Given the description of an element on the screen output the (x, y) to click on. 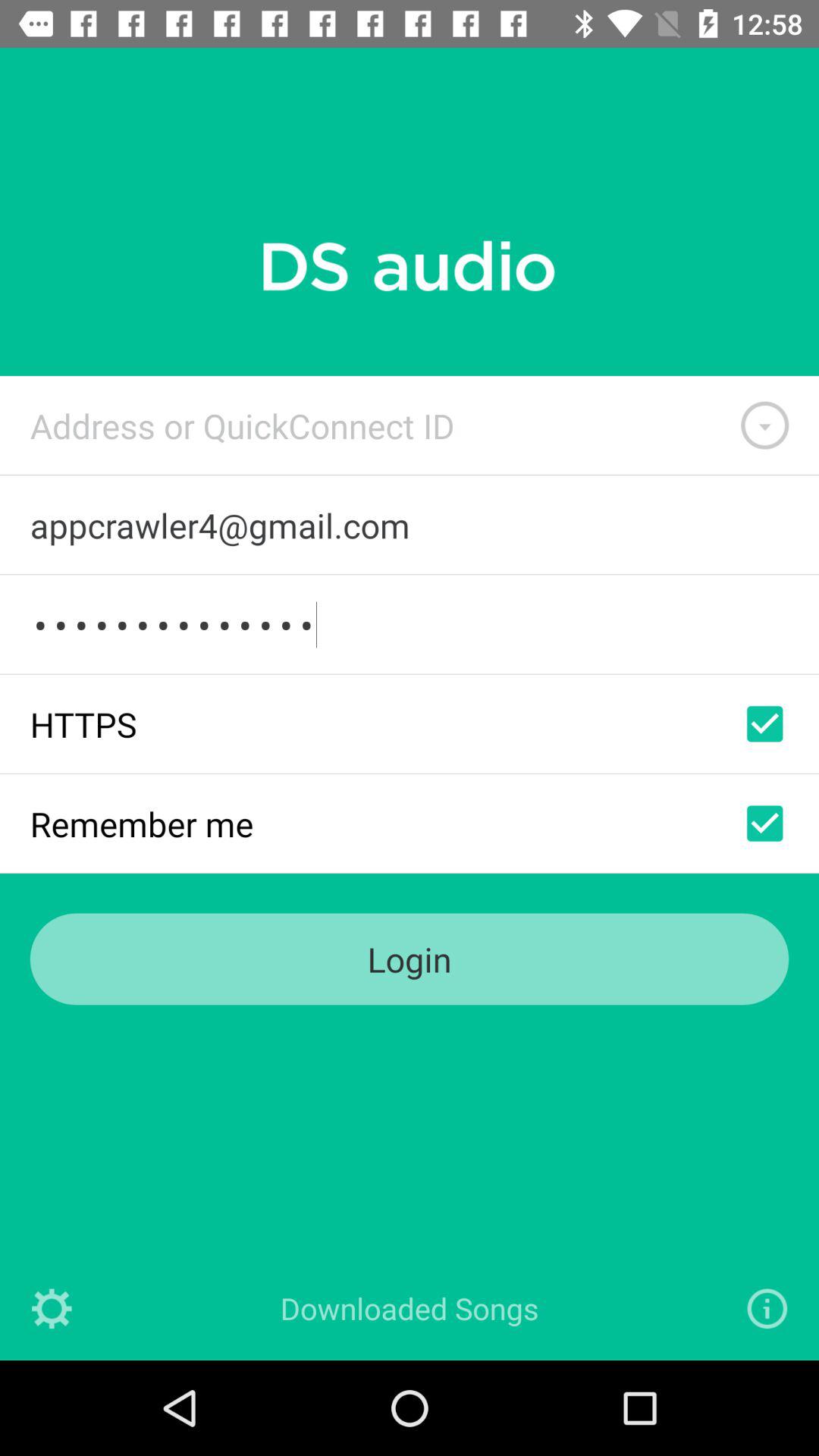
settings (51, 1308)
